Given the description of an element on the screen output the (x, y) to click on. 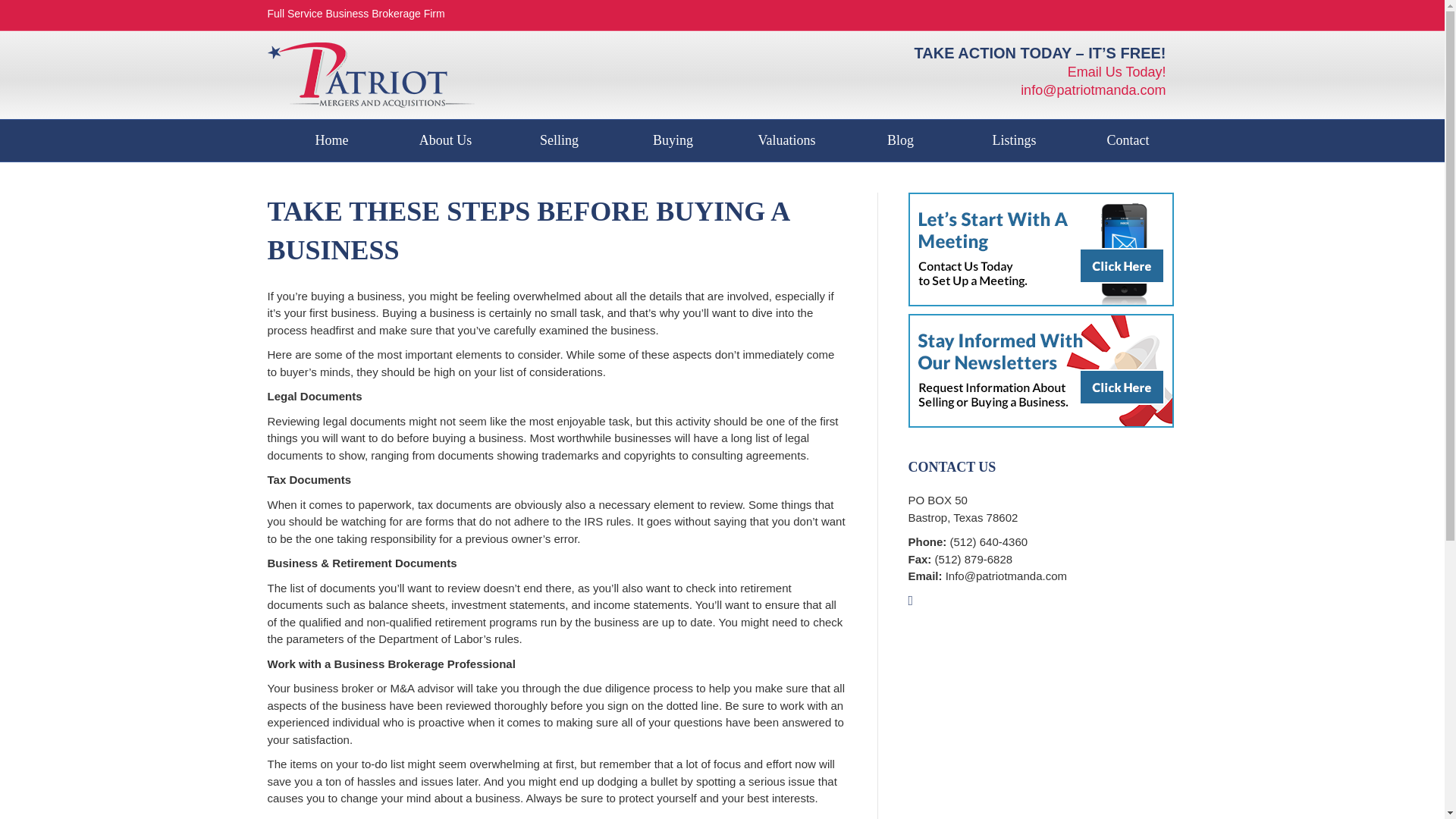
Listings (1012, 140)
About Us (445, 140)
Buying (672, 140)
Copyright: Business Brokerage Press, Inc. (373, 817)
Selling (558, 140)
Blog (899, 140)
Valuations (785, 140)
Contact (1127, 140)
Home (331, 140)
